Given the description of an element on the screen output the (x, y) to click on. 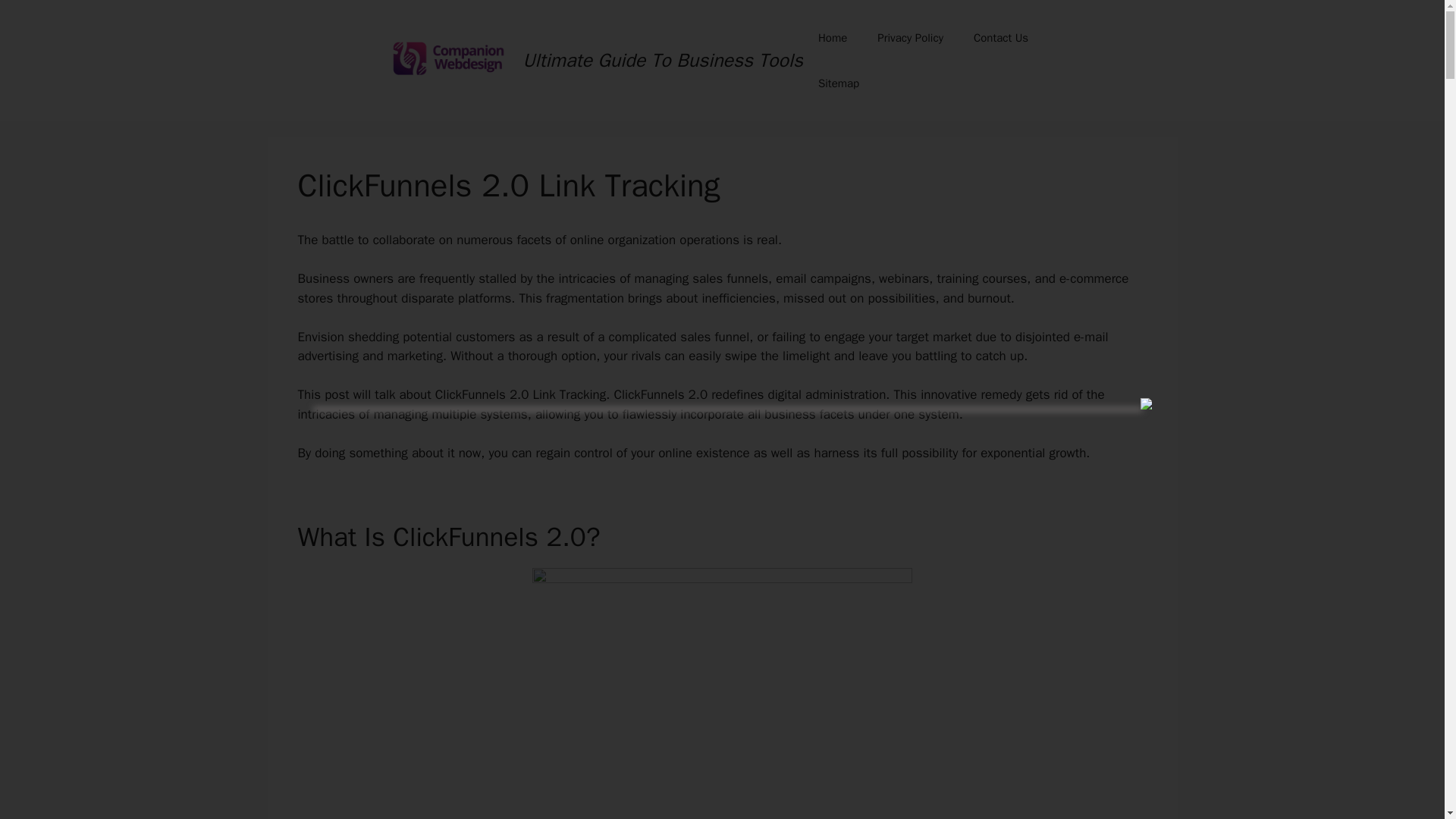
Ultimate Guide To Business Tools (662, 60)
Contact Us (1000, 37)
Home (832, 37)
Sitemap (839, 83)
Privacy Policy (909, 37)
